Given the description of an element on the screen output the (x, y) to click on. 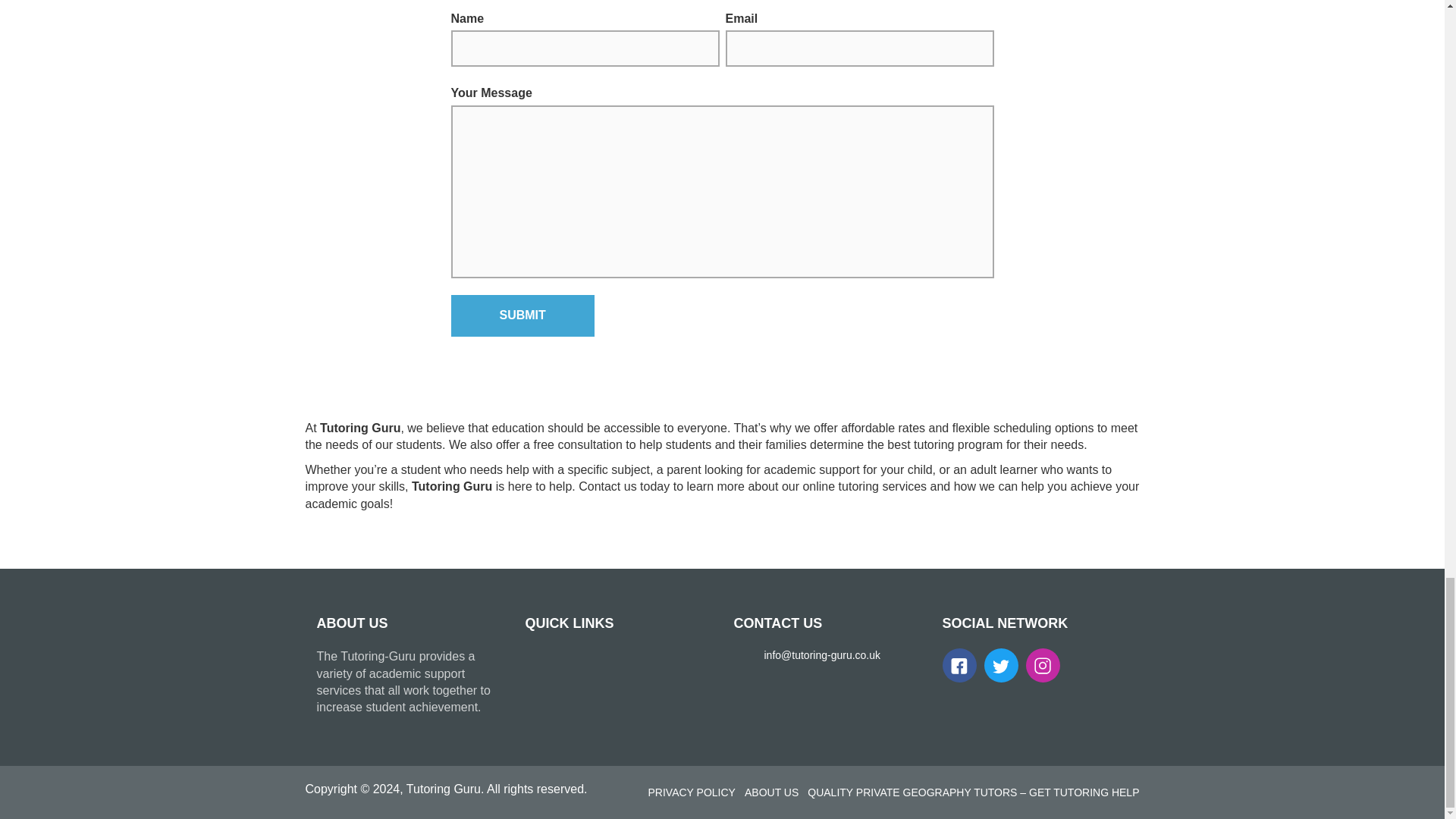
ABOUT US (770, 792)
Submit (521, 314)
PRIVACY POLICY (691, 792)
Submit (521, 314)
